Given the description of an element on the screen output the (x, y) to click on. 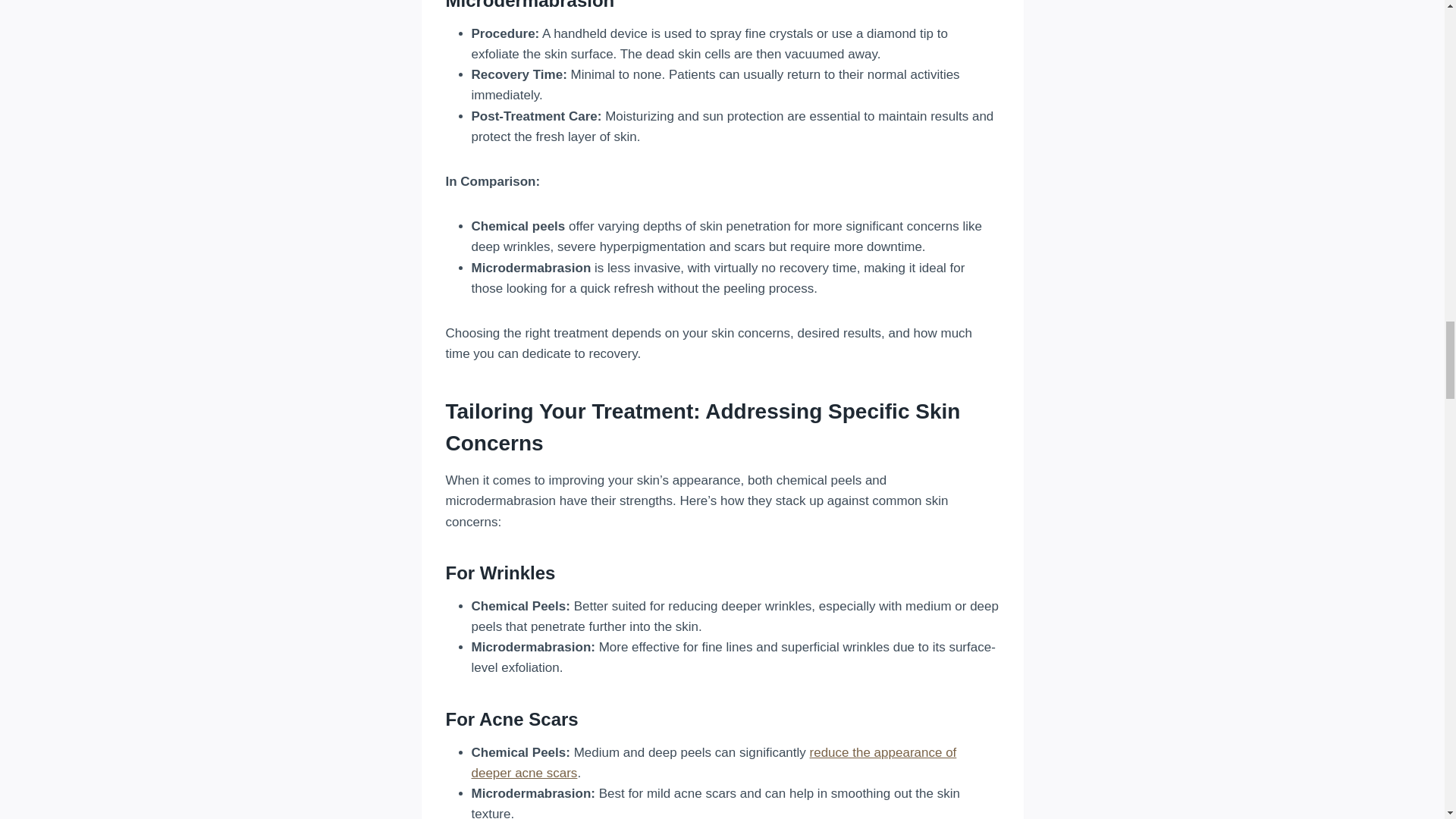
reduce the appearance of deeper acne scars (713, 762)
